Given the description of an element on the screen output the (x, y) to click on. 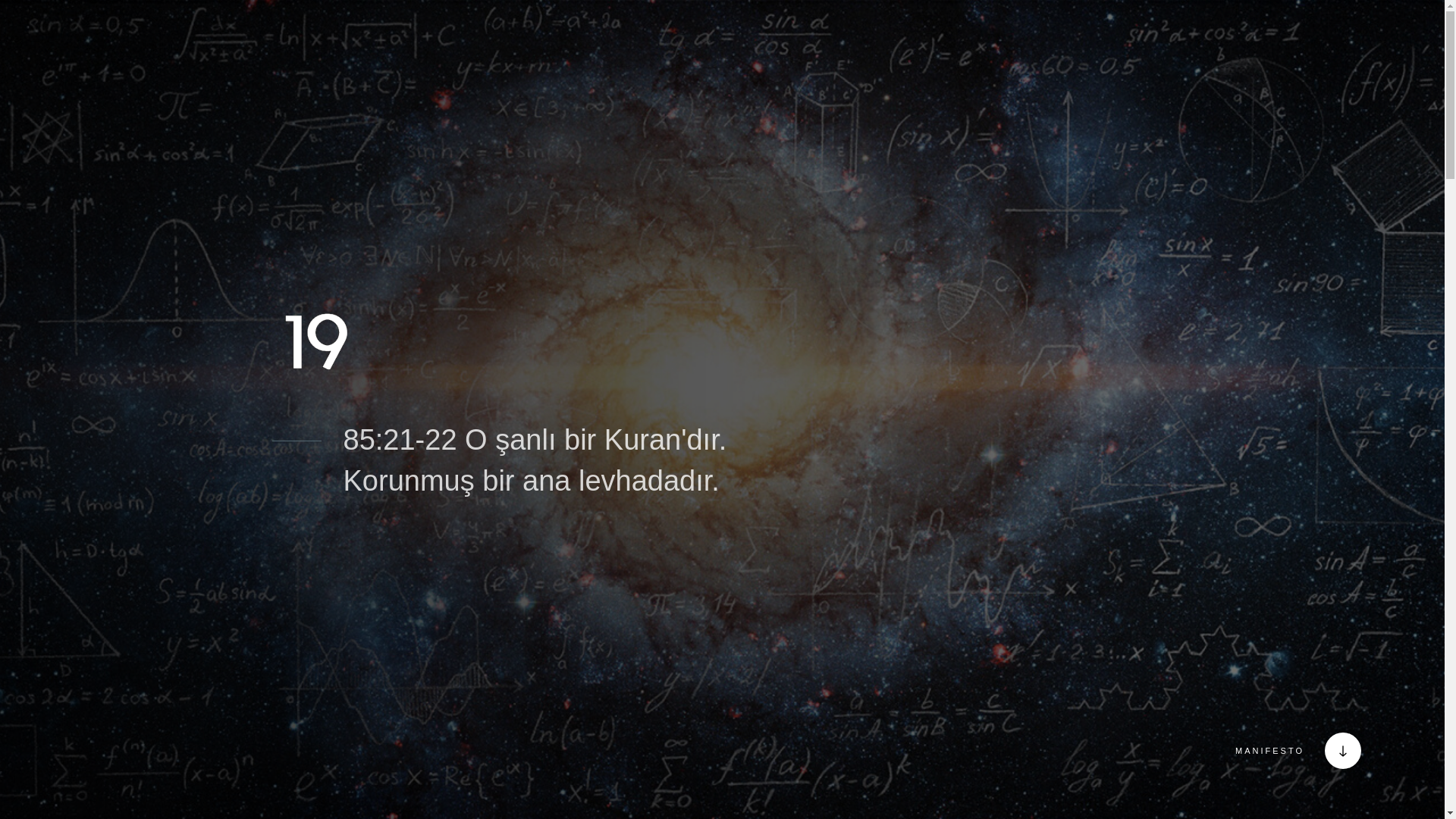
MANIFESTO Element type: text (1326, 750)
